Given the description of an element on the screen output the (x, y) to click on. 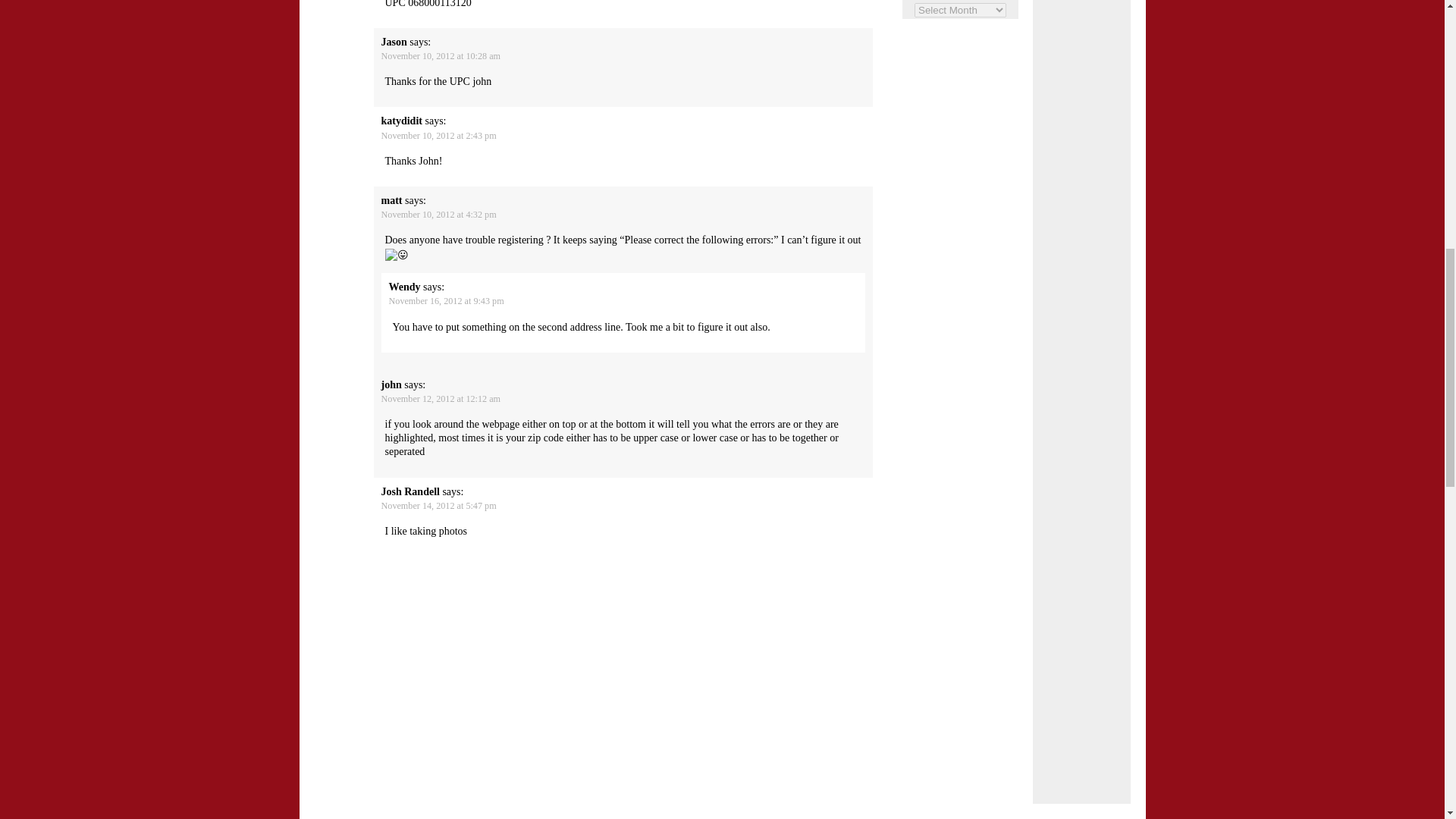
November 10, 2012 at 10:28 am (440, 55)
November 16, 2012 at 9:43 pm (445, 300)
November 10, 2012 at 4:32 pm (438, 214)
November 12, 2012 at 12:12 am (440, 398)
November 10, 2012 at 2:43 pm (438, 135)
November 14, 2012 at 5:47 pm (438, 505)
